Given the description of an element on the screen output the (x, y) to click on. 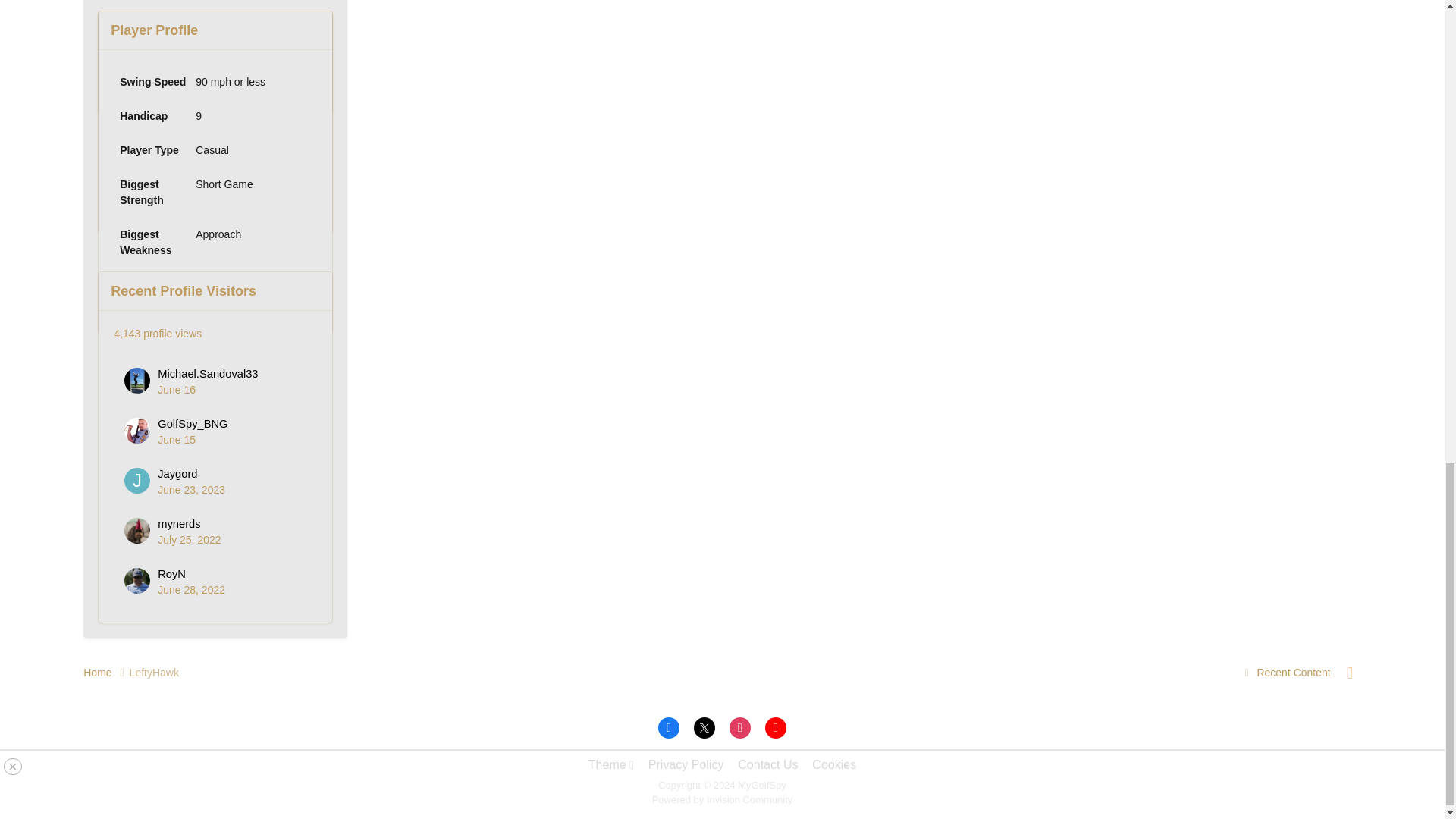
Go to Jaygord's profile (136, 480)
Go to Jaygord's profile (176, 473)
Go to Michael.Sandoval33's profile (207, 373)
Go to Michael.Sandoval33's profile (136, 380)
